Given the description of an element on the screen output the (x, y) to click on. 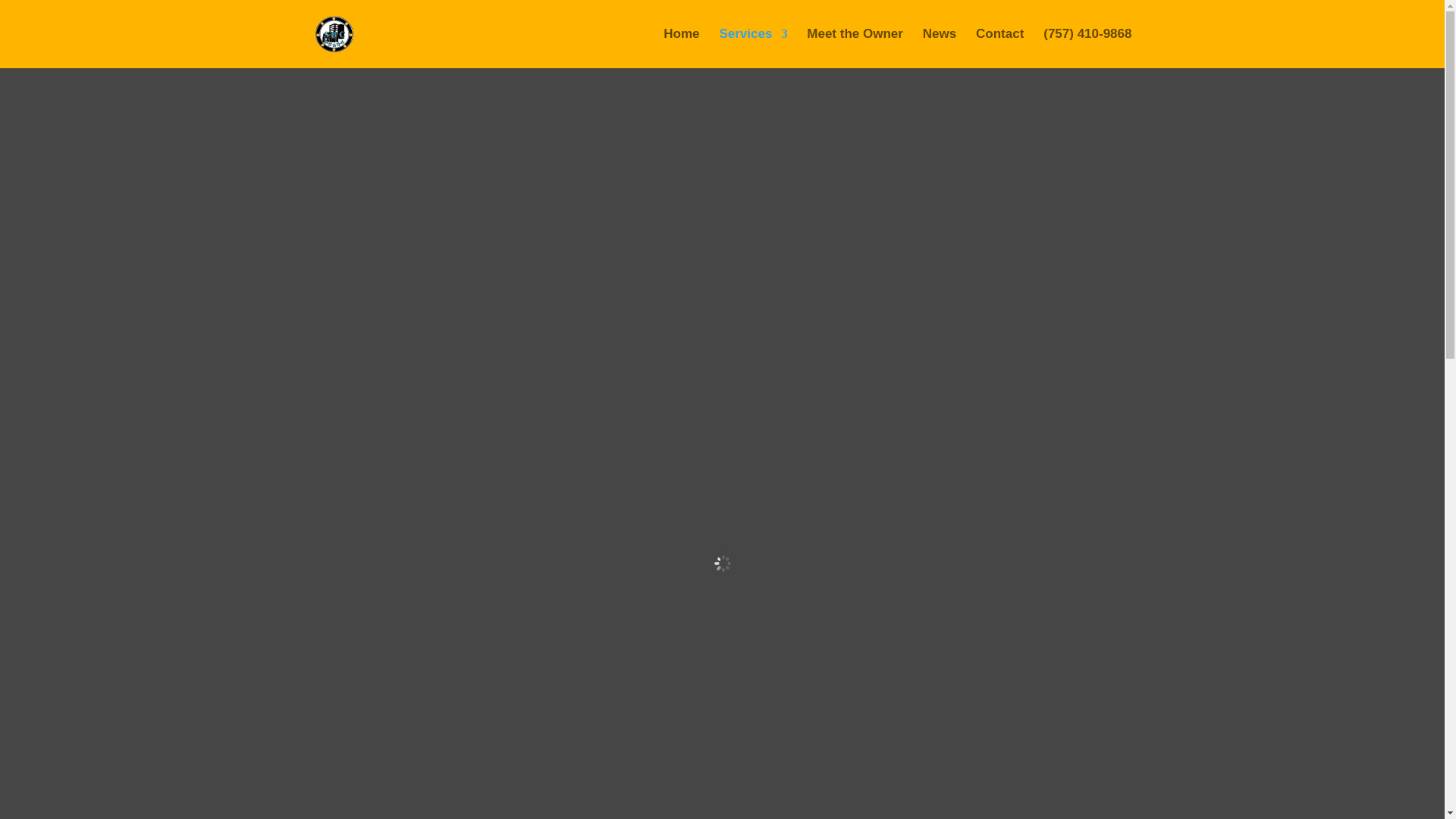
Home (680, 47)
Meet the Owner (854, 47)
Services (753, 47)
Contact (999, 47)
